Given the description of an element on the screen output the (x, y) to click on. 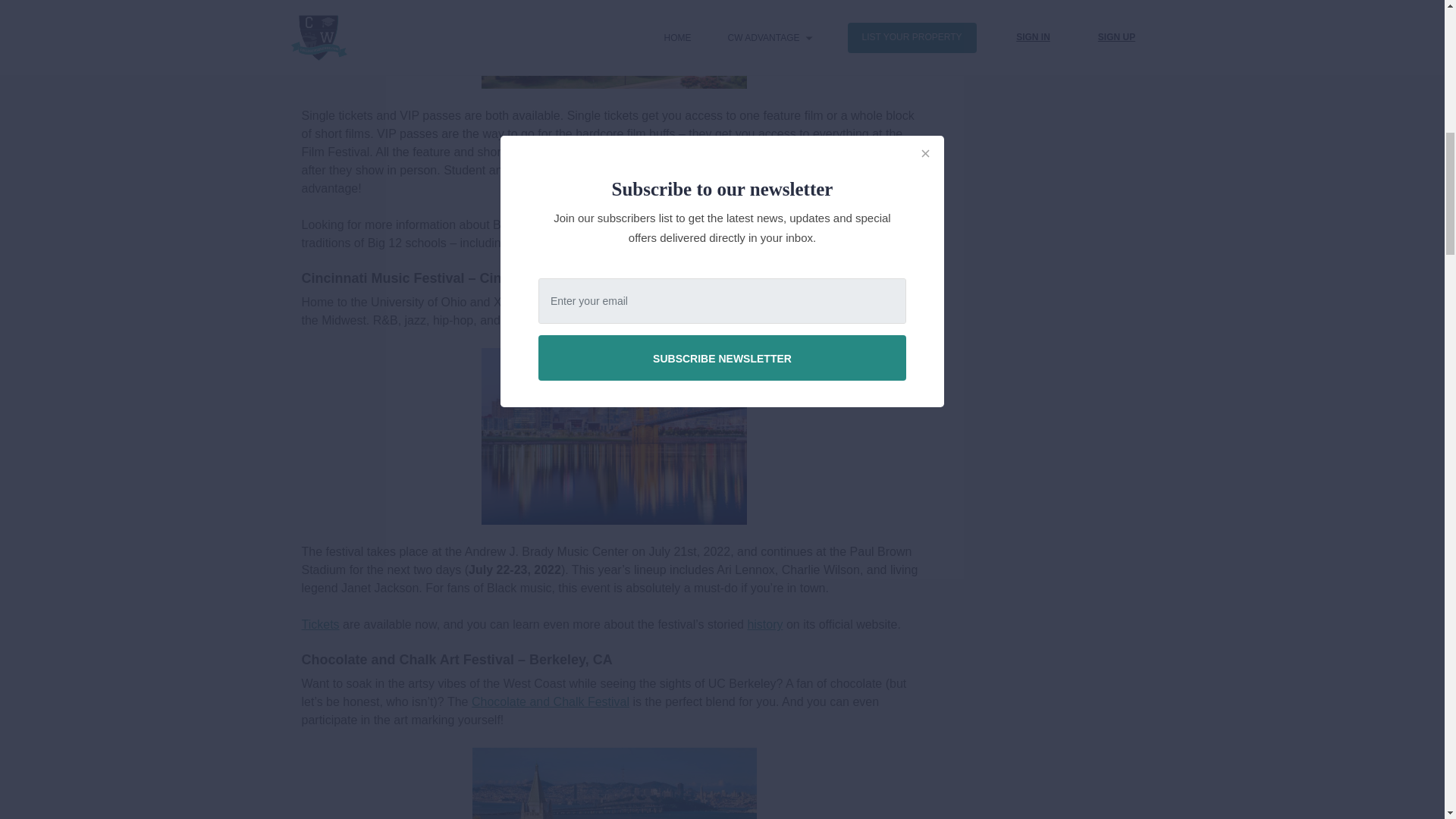
Tickets (320, 624)
here (571, 242)
Chocolate and Chalk Festival (549, 701)
history (764, 624)
Cincinnati Music Festival (849, 319)
offered (681, 169)
